Given the description of an element on the screen output the (x, y) to click on. 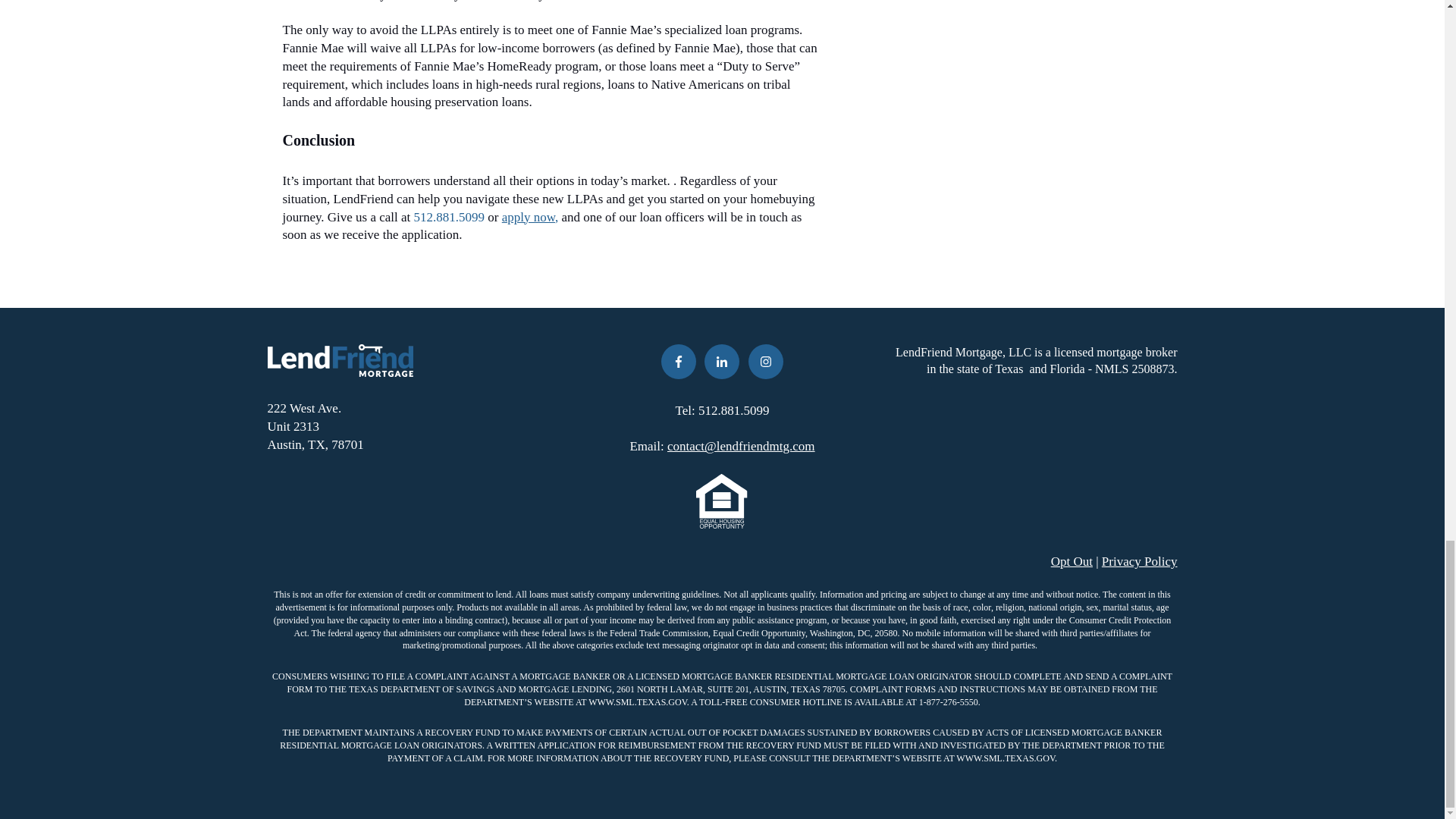
512.881.5099 (734, 410)
LendFriendMortgageBlueWhite (339, 359)
Privacy Policy (1139, 561)
512.881.5099 (448, 216)
Opt Out (1072, 561)
apply now (528, 216)
